Given the description of an element on the screen output the (x, y) to click on. 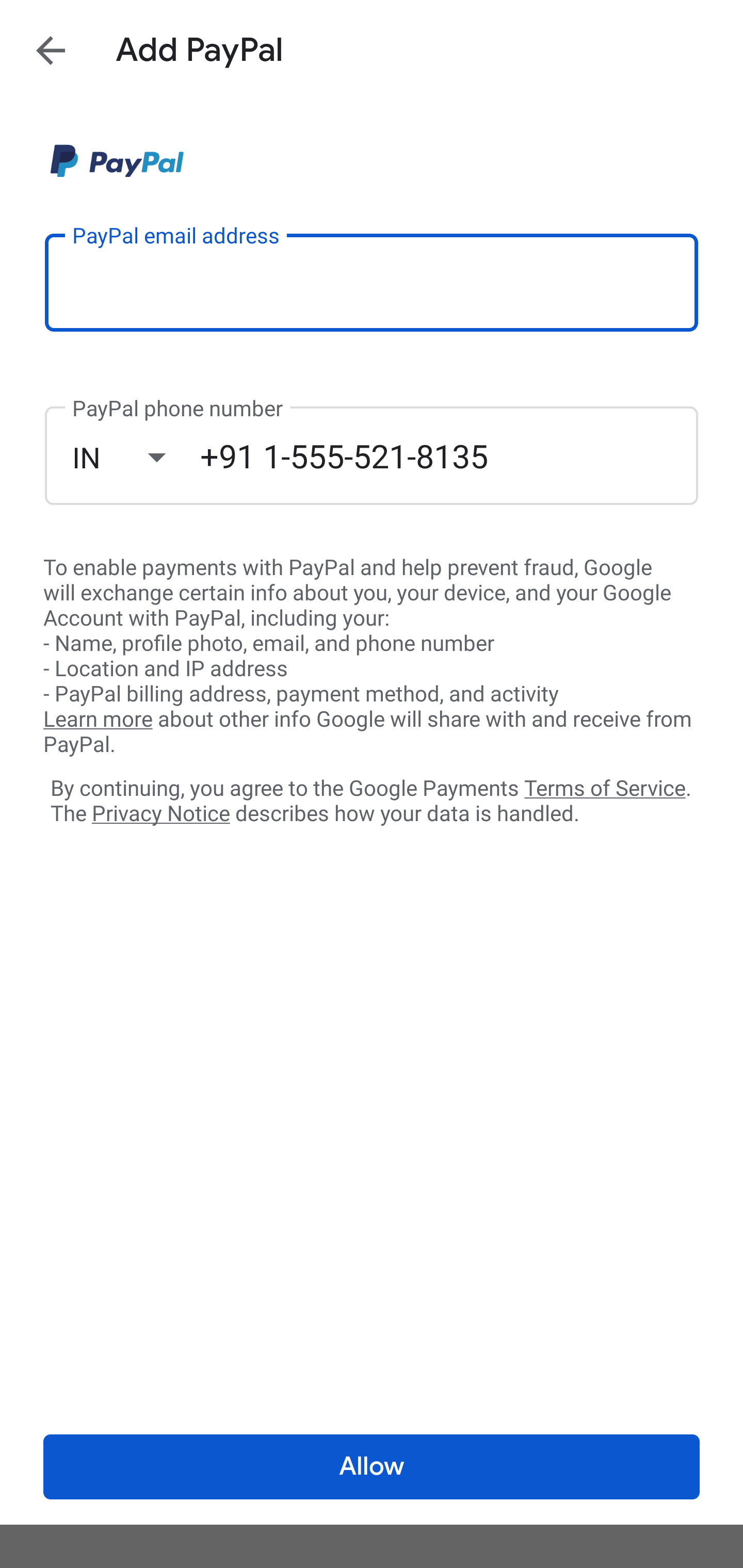
Navigate up (50, 50)
PayPal email address (371, 282)
IN (135, 456)
Learn more (97, 719)
Terms of Service (604, 787)
Privacy Notice (160, 814)
Allow (371, 1466)
